Given the description of an element on the screen output the (x, y) to click on. 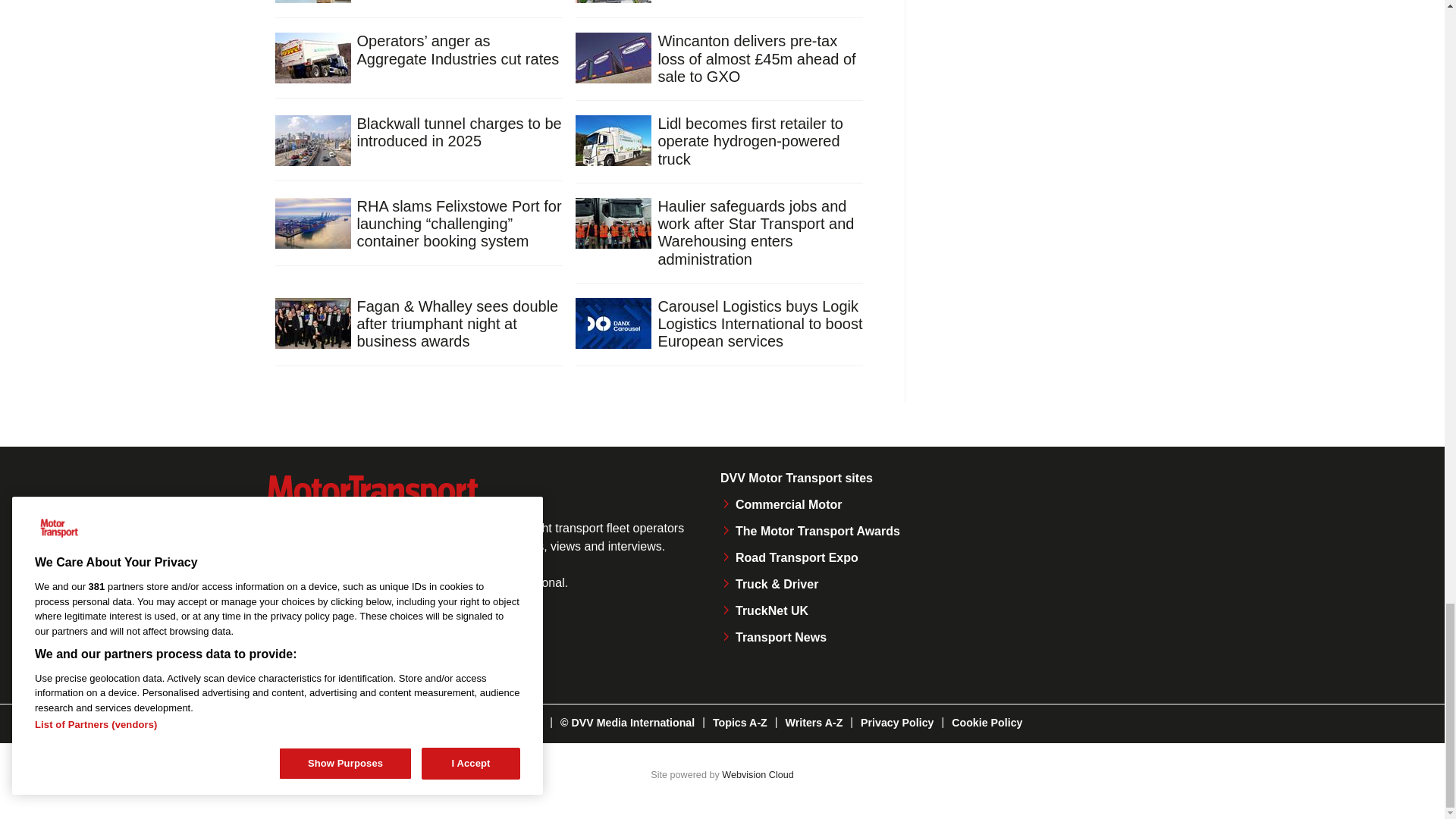
Connect with us on Facebook (284, 648)
Email us (438, 648)
Connect with us on Linked in (387, 648)
Connect with us on Twitter (336, 648)
